Given the description of an element on the screen output the (x, y) to click on. 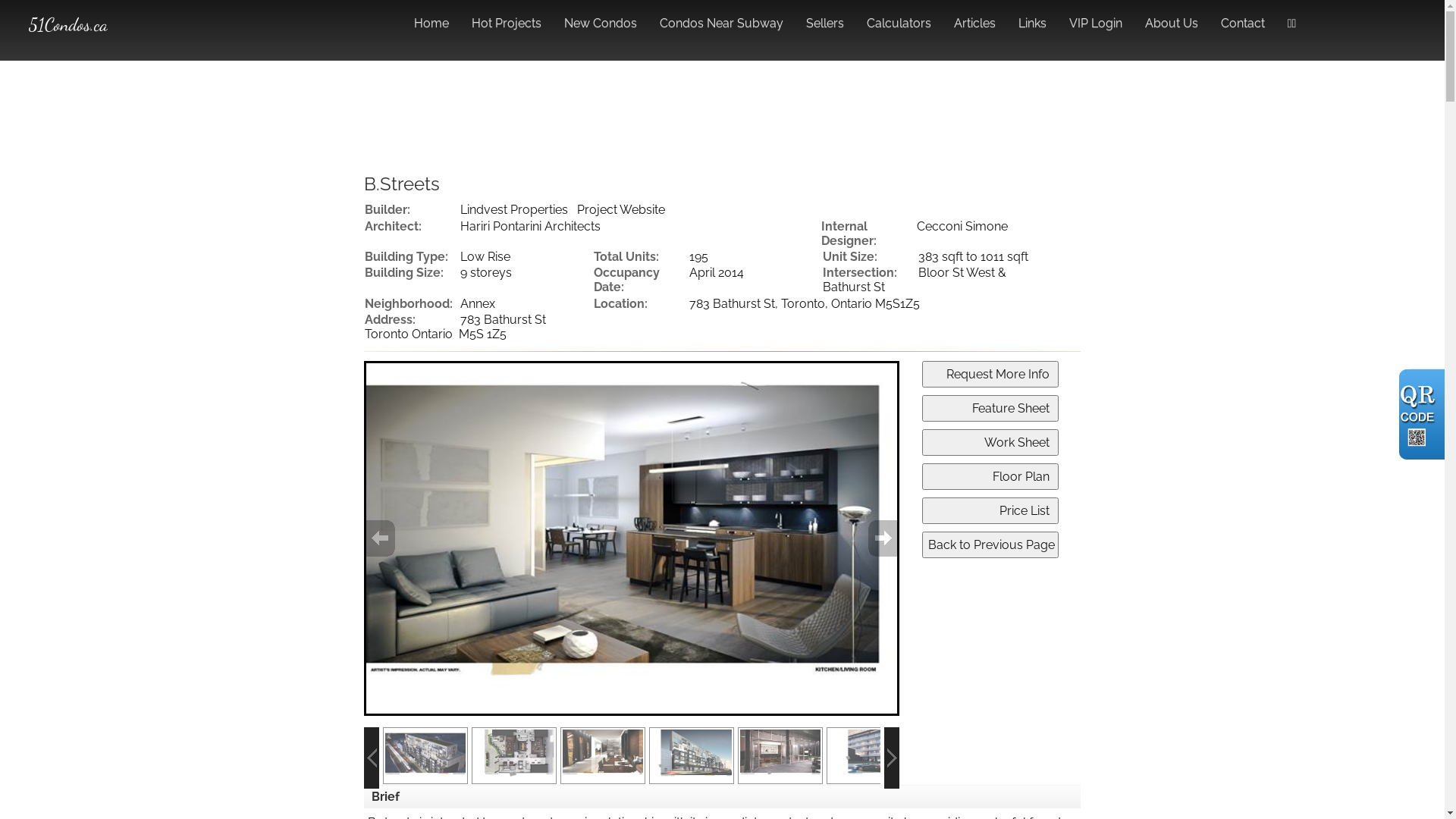
Calculators Element type: text (898, 18)
Feature Sheet Element type: text (990, 408)
Back to Previous Page Element type: text (990, 544)
Slide Left Element type: hover (371, 757)
Price List Element type: text (990, 510)
Sellers Element type: text (824, 18)
Home Element type: text (431, 18)
VIP Login Element type: text (1095, 18)
New Condos Element type: text (600, 18)
Floor Plan Element type: text (990, 476)
Condos Near Subway Element type: text (721, 18)
Previous Image Element type: hover (392, 538)
Slide Right Element type: hover (891, 757)
Work Sheet Element type: text (990, 442)
Contact Element type: text (1242, 18)
Hot Projects Element type: text (506, 18)
Links Element type: text (1032, 18)
Articles Element type: text (974, 18)
Request More Info Element type: text (990, 373)
Project Website Element type: text (621, 209)
About Us Element type: text (1171, 18)
Next Image Element type: hover (870, 538)
